Given the description of an element on the screen output the (x, y) to click on. 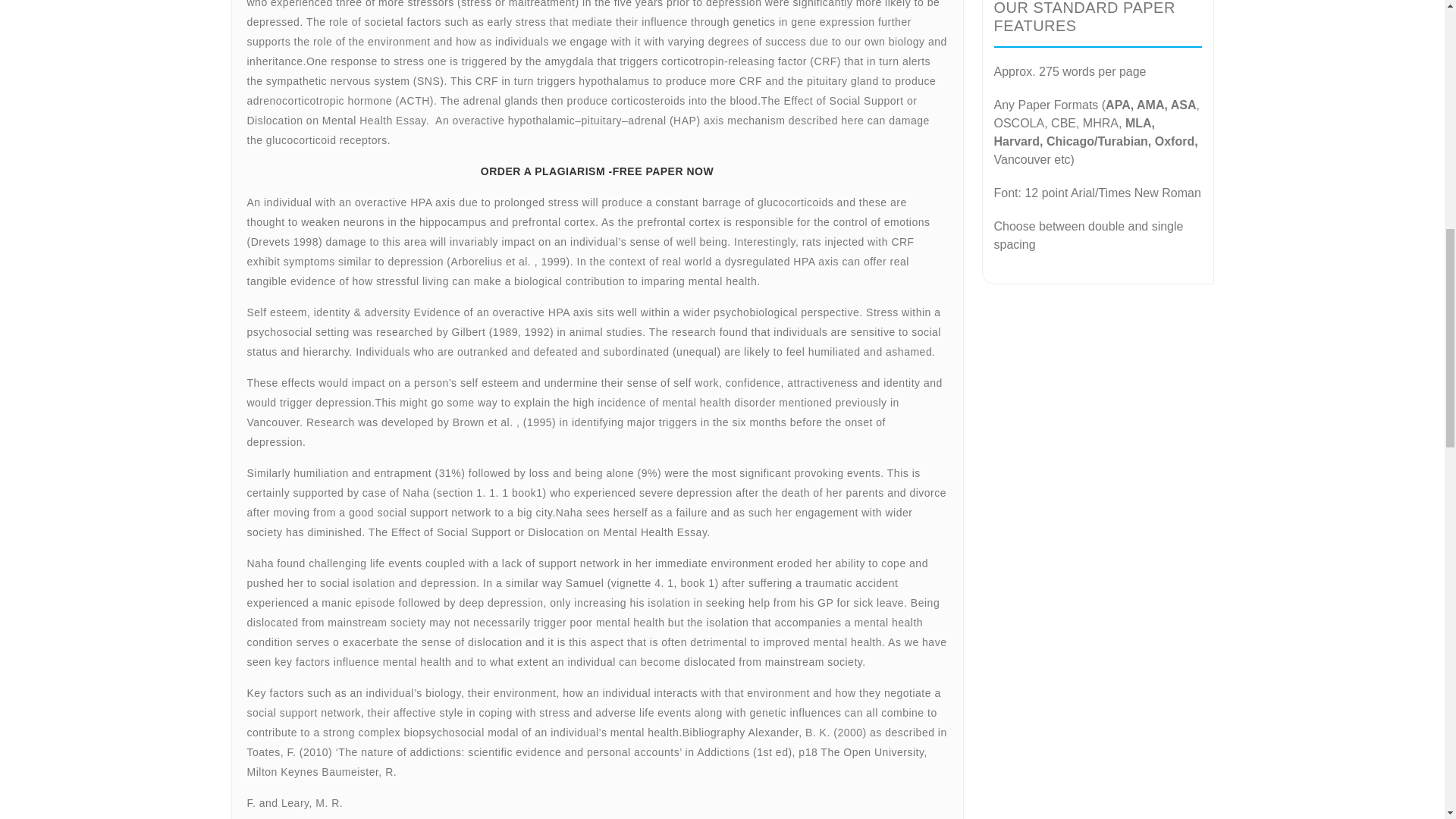
ORDER A PLAGIARISM -FREE PAPER NOW (596, 171)
